Given the description of an element on the screen output the (x, y) to click on. 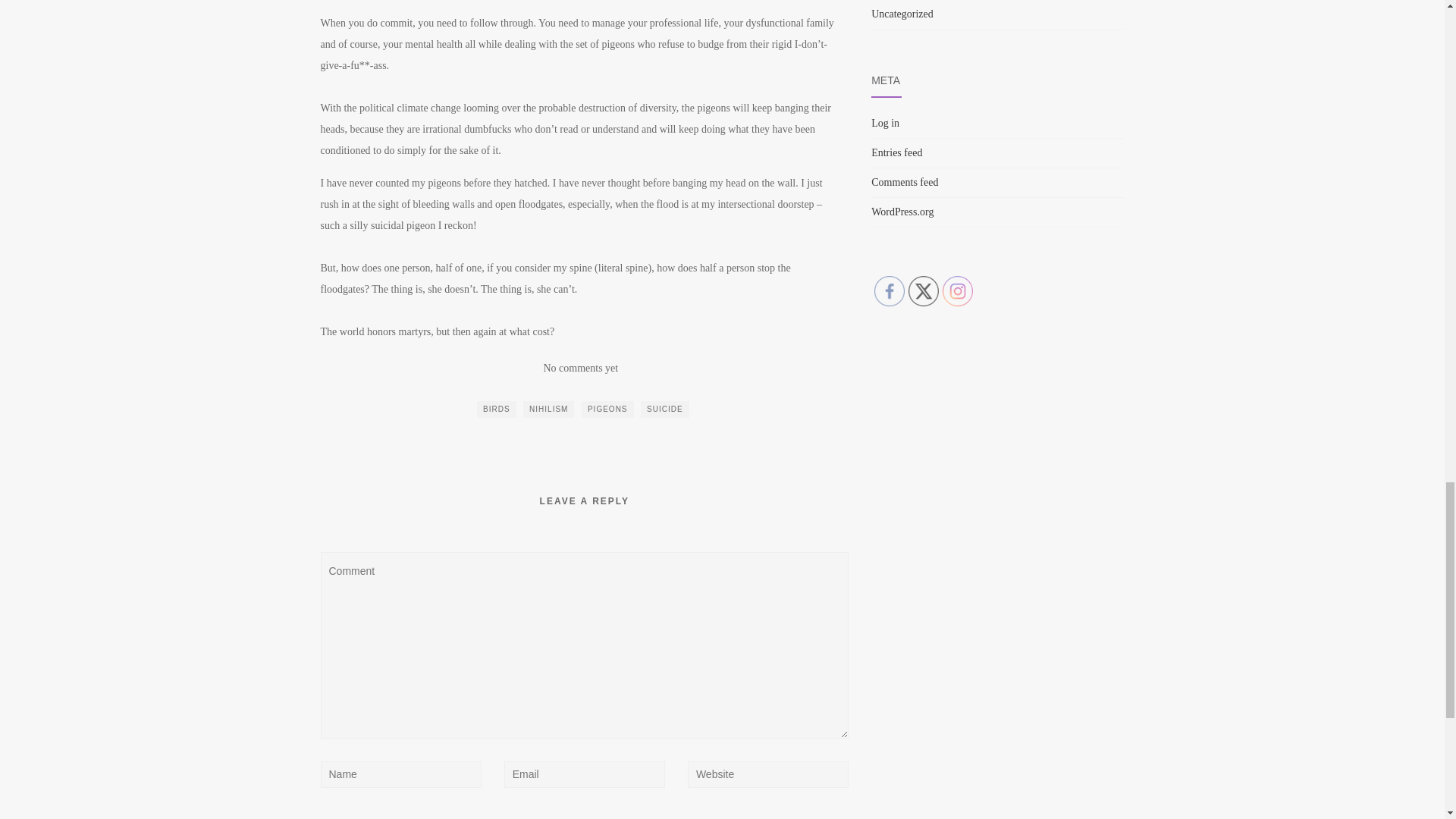
PIGEONS (606, 409)
NIHILISM (547, 409)
SUICIDE (664, 409)
BIRDS (496, 409)
No comments yet (580, 367)
Facebook (889, 291)
Twitter (923, 291)
